Given the description of an element on the screen output the (x, y) to click on. 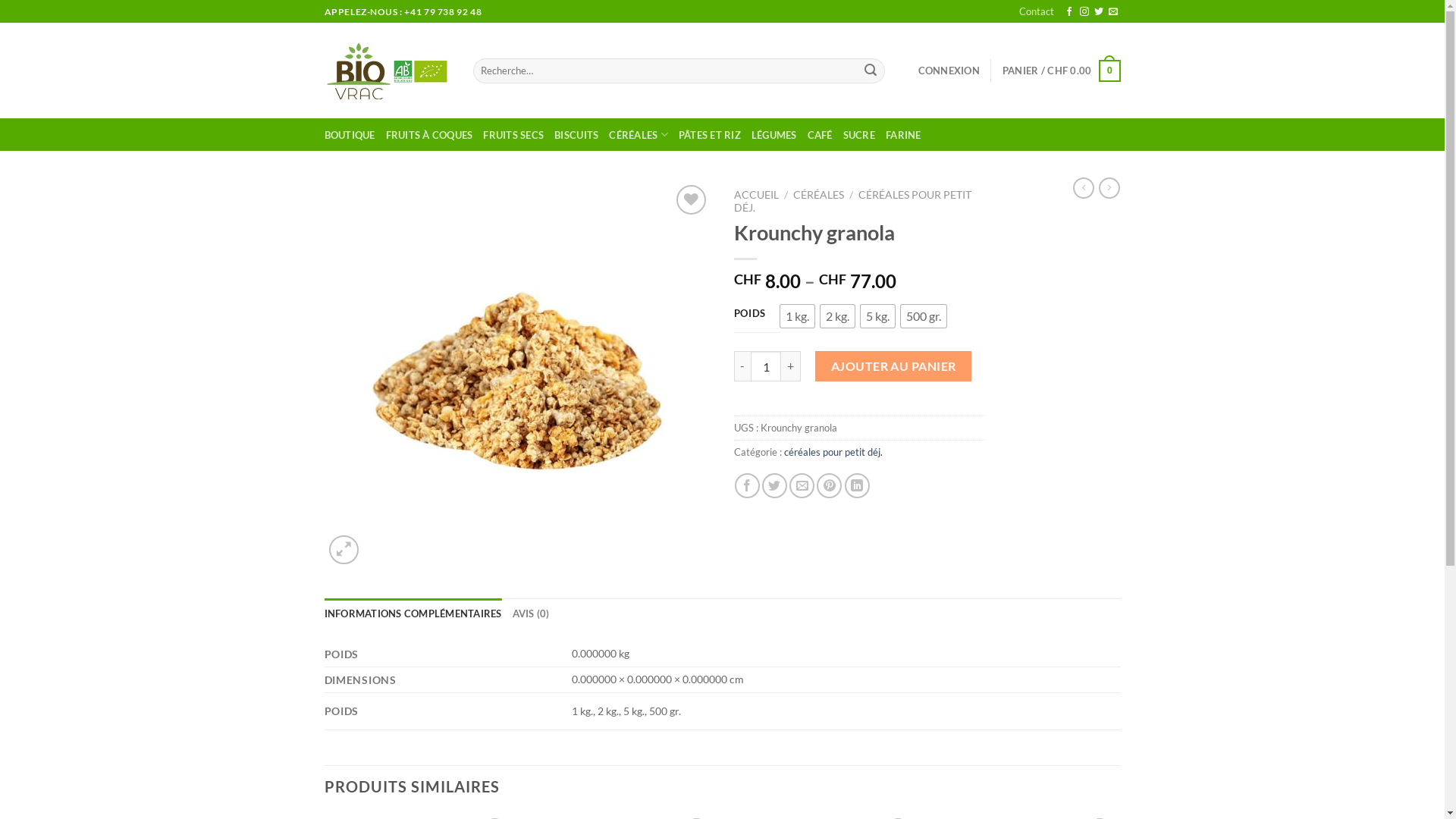
FRUITS SECS Element type: text (513, 134)
SUCRE Element type: text (859, 134)
BOUTIQUE Element type: text (349, 134)
AVIS (0) Element type: text (530, 613)
images Element type: hover (517, 374)
FARINE Element type: text (903, 134)
CONNEXION Element type: text (948, 70)
BISCUITS Element type: text (576, 134)
Contact Element type: text (1036, 11)
PANIER / CHF 0.00
0 Element type: text (1061, 71)
AJOUTER AU PANIER Element type: text (893, 366)
ACCUEIL Element type: text (756, 194)
Recherche Element type: text (870, 71)
